Given the description of an element on the screen output the (x, y) to click on. 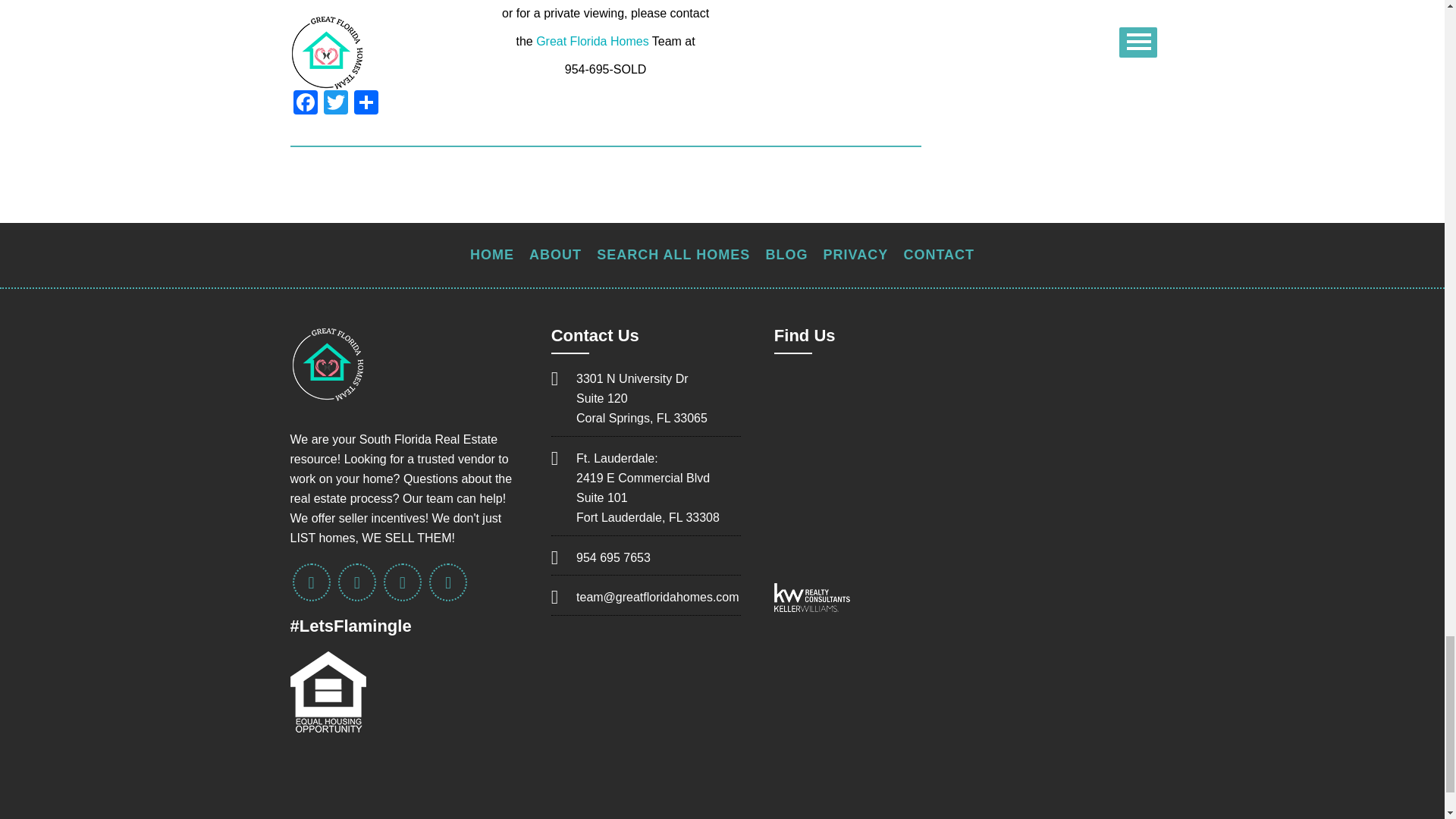
Twitter (335, 103)
Twitter (335, 103)
Great Florida Homes (592, 41)
Facebook (304, 103)
Facebook (304, 103)
